Given the description of an element on the screen output the (x, y) to click on. 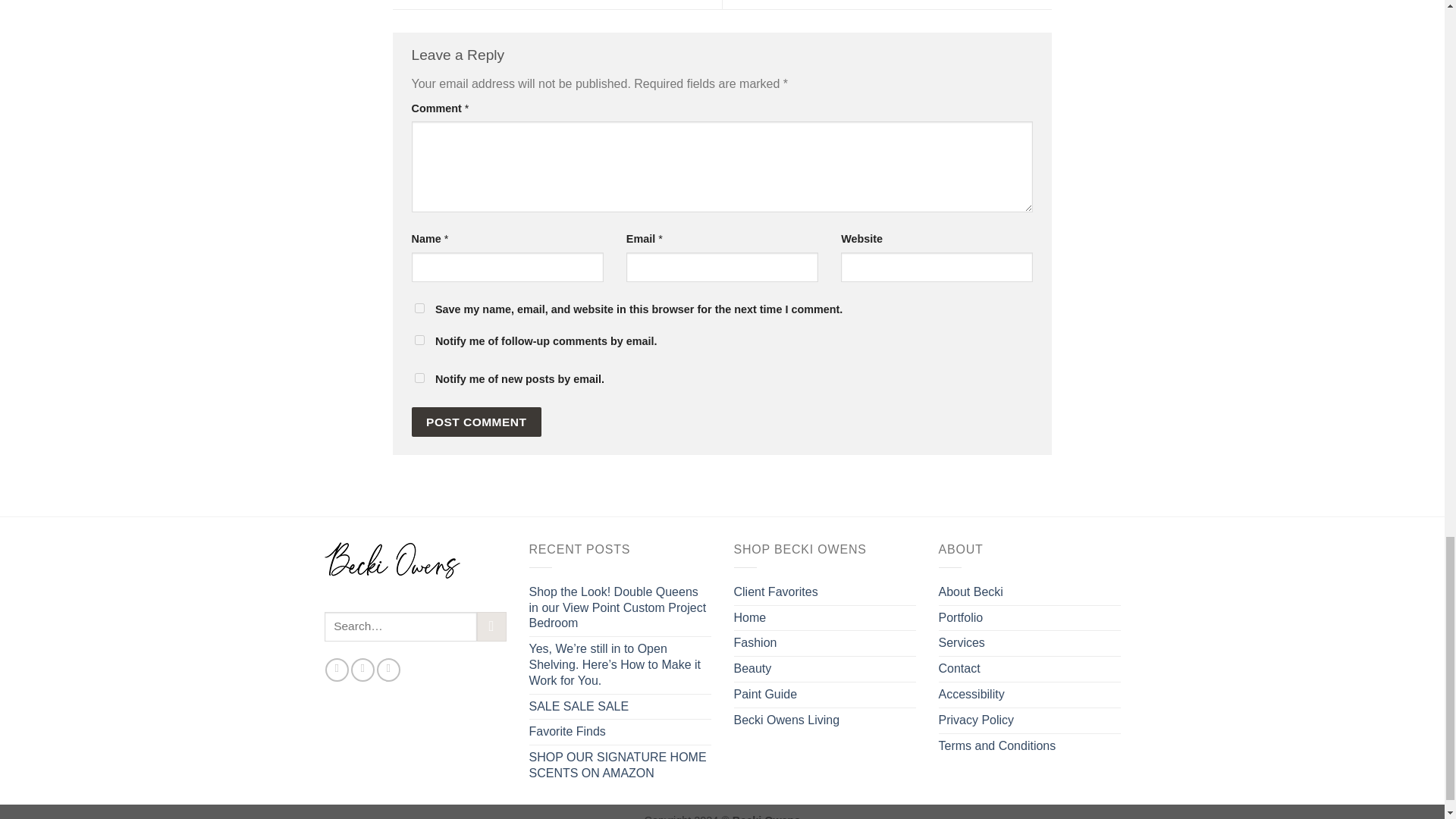
subscribe (418, 378)
subscribe (418, 339)
Follow on Pinterest (388, 669)
Follow on Instagram (362, 669)
Post Comment (475, 421)
Follow on Facebook (336, 669)
yes (418, 307)
